Given the description of an element on the screen output the (x, y) to click on. 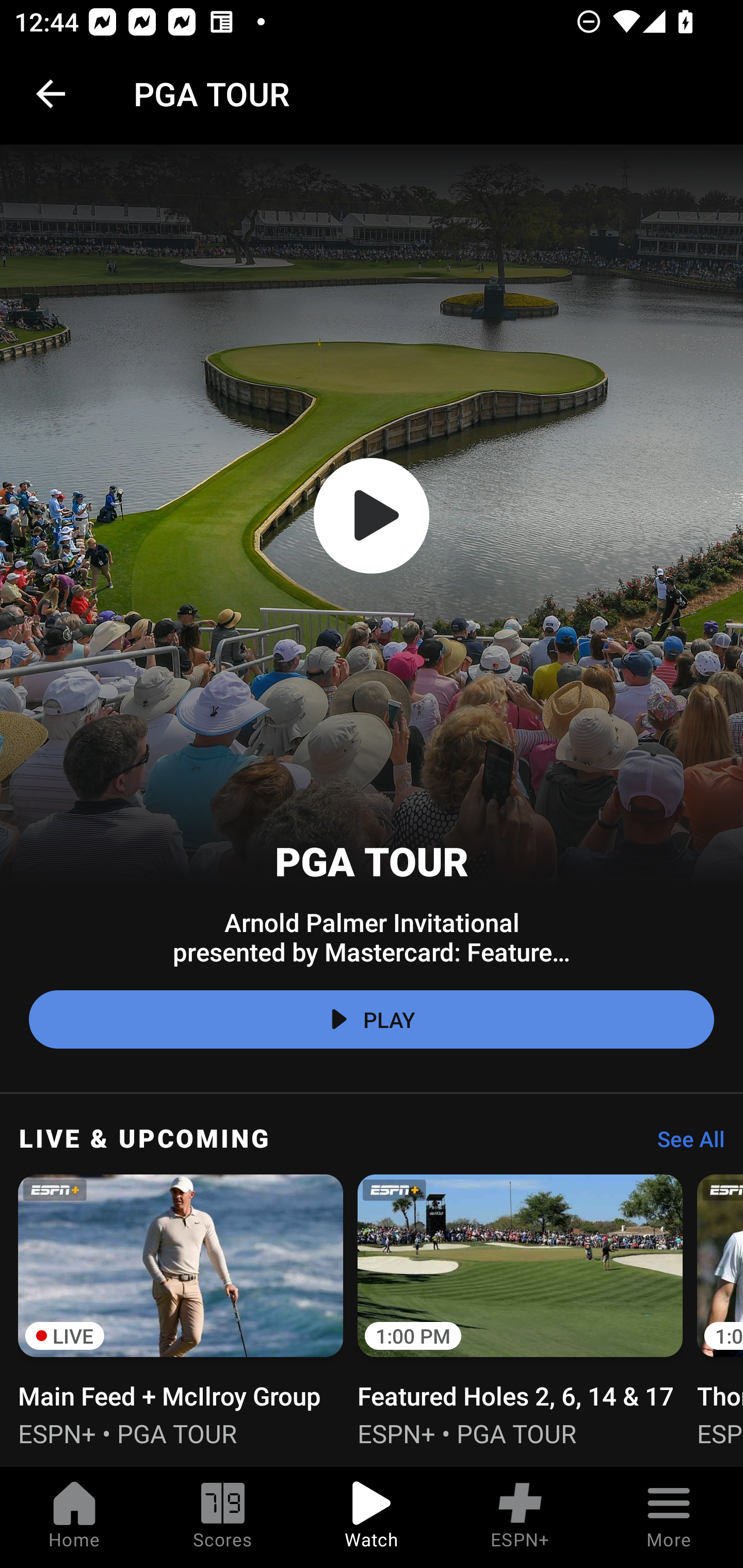
 (371, 515)
PLAY (371, 1019)
See All (683, 1143)
LIVE Main Feed + McIlroy Group ESPN+ • PGA TOUR (180, 1308)
Home (74, 1517)
Scores (222, 1517)
ESPN+ (519, 1517)
More (668, 1517)
